Given the description of an element on the screen output the (x, y) to click on. 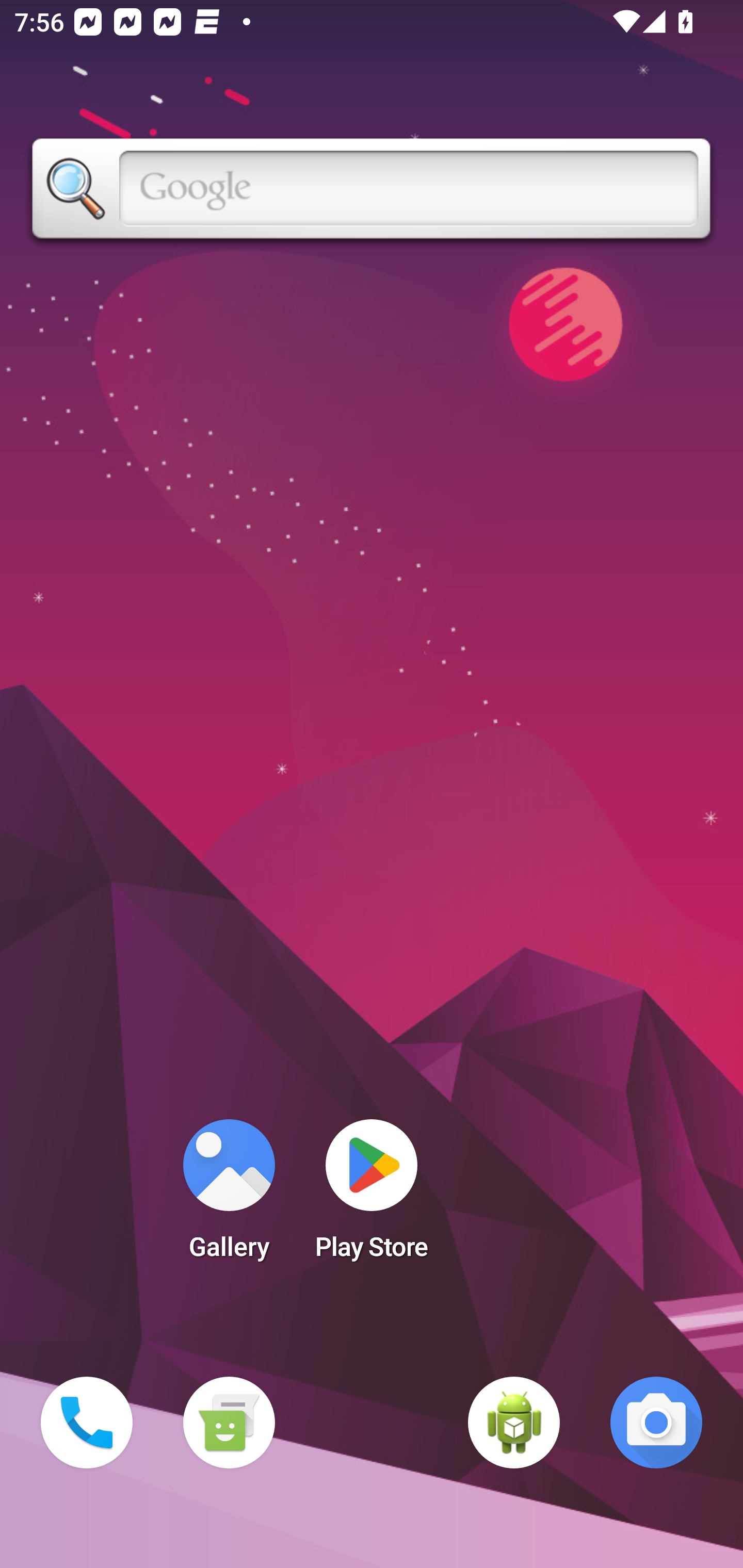
Gallery (228, 1195)
Play Store (371, 1195)
Phone (86, 1422)
Messaging (228, 1422)
WebView Browser Tester (513, 1422)
Camera (656, 1422)
